Given the description of an element on the screen output the (x, y) to click on. 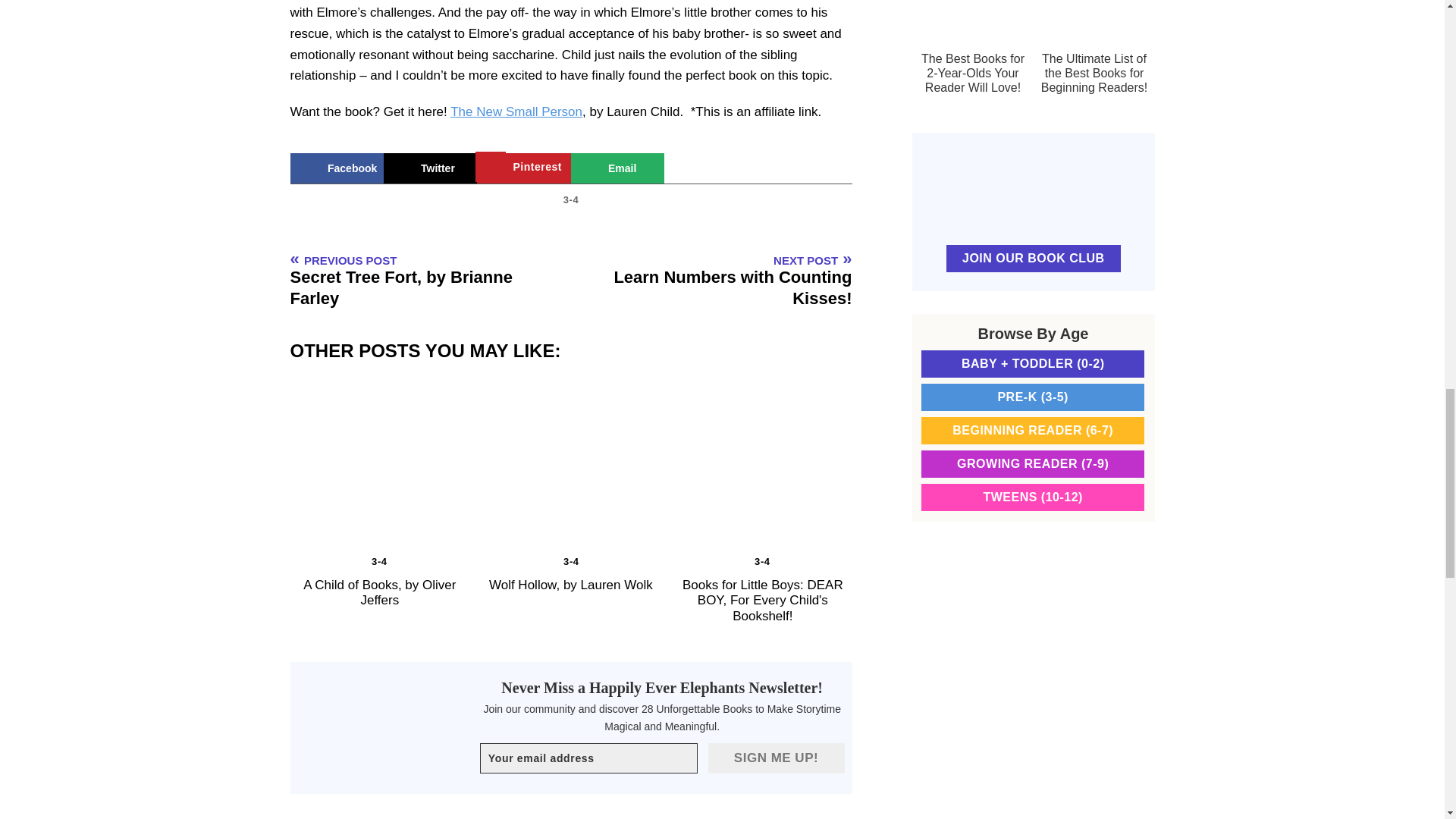
Share on Facebook (335, 168)
Email (616, 168)
The New Small Person (515, 111)
Facebook (335, 168)
Pinterest (523, 168)
Send over email (616, 168)
Twitter (430, 168)
3-4 (571, 199)
Save to Pinterest (523, 168)
Share on X (430, 168)
